Given the description of an element on the screen output the (x, y) to click on. 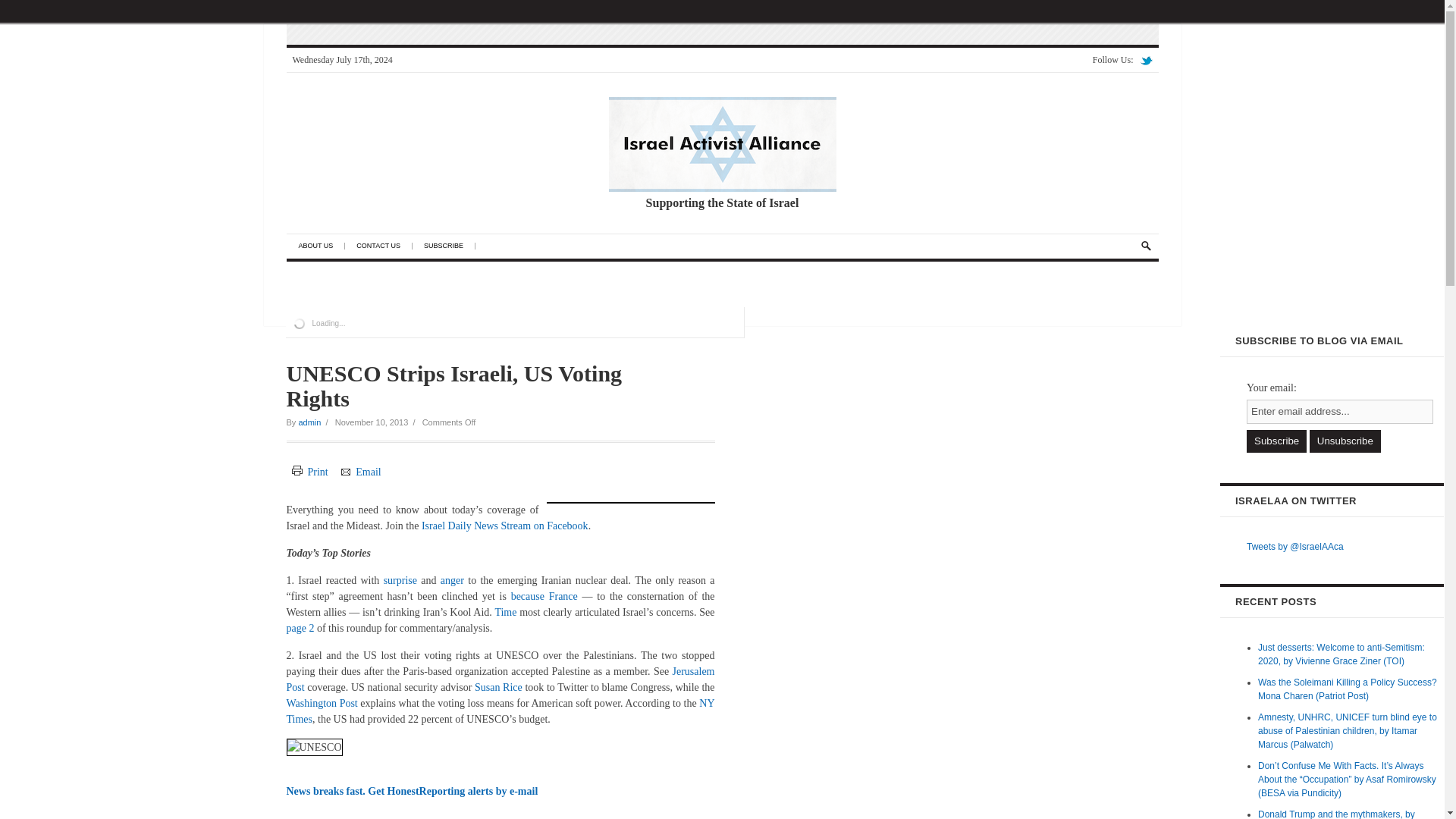
CONTACT US (384, 245)
page 2 (300, 627)
Time (505, 612)
Enter email address... (1339, 411)
NY Times (500, 710)
Jerusalem Post (500, 678)
Print Article (309, 471)
Israel Daily News Stream on Facebook (505, 525)
ABOUT US (322, 245)
Subscribe (1276, 440)
Unsubscribe (1344, 440)
UNESCO (314, 746)
  Print (309, 471)
Washington Post (322, 703)
